Given the description of an element on the screen output the (x, y) to click on. 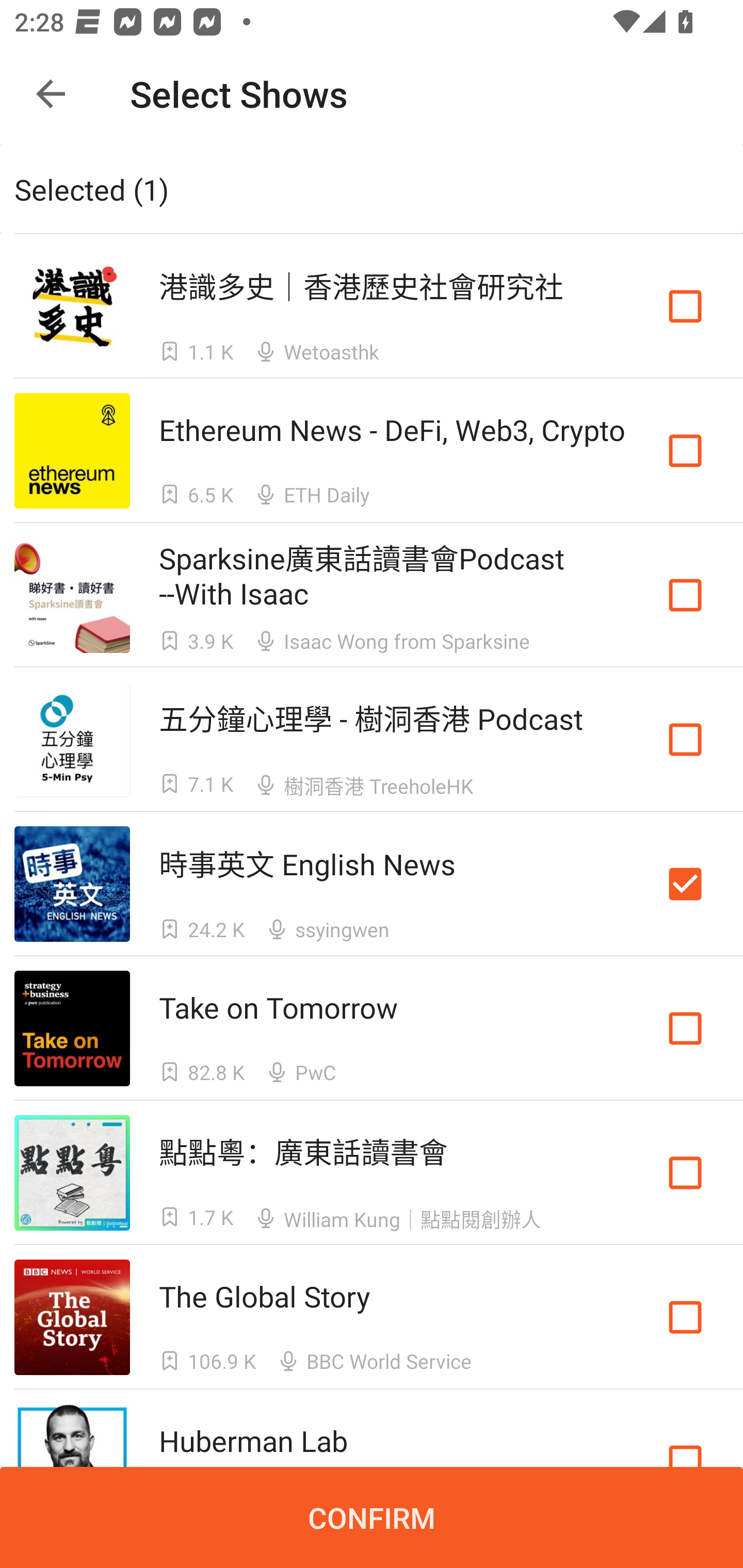
Navigate up (50, 93)
港識多史｜香港歷史社會研究社 港識多史｜香港歷史社會研究社  1.1 K  Wetoasthk (371, 305)
Take on Tomorrow Take on Tomorrow  82.8 K  PwC (371, 1028)
CONFIRM (371, 1517)
